Given the description of an element on the screen output the (x, y) to click on. 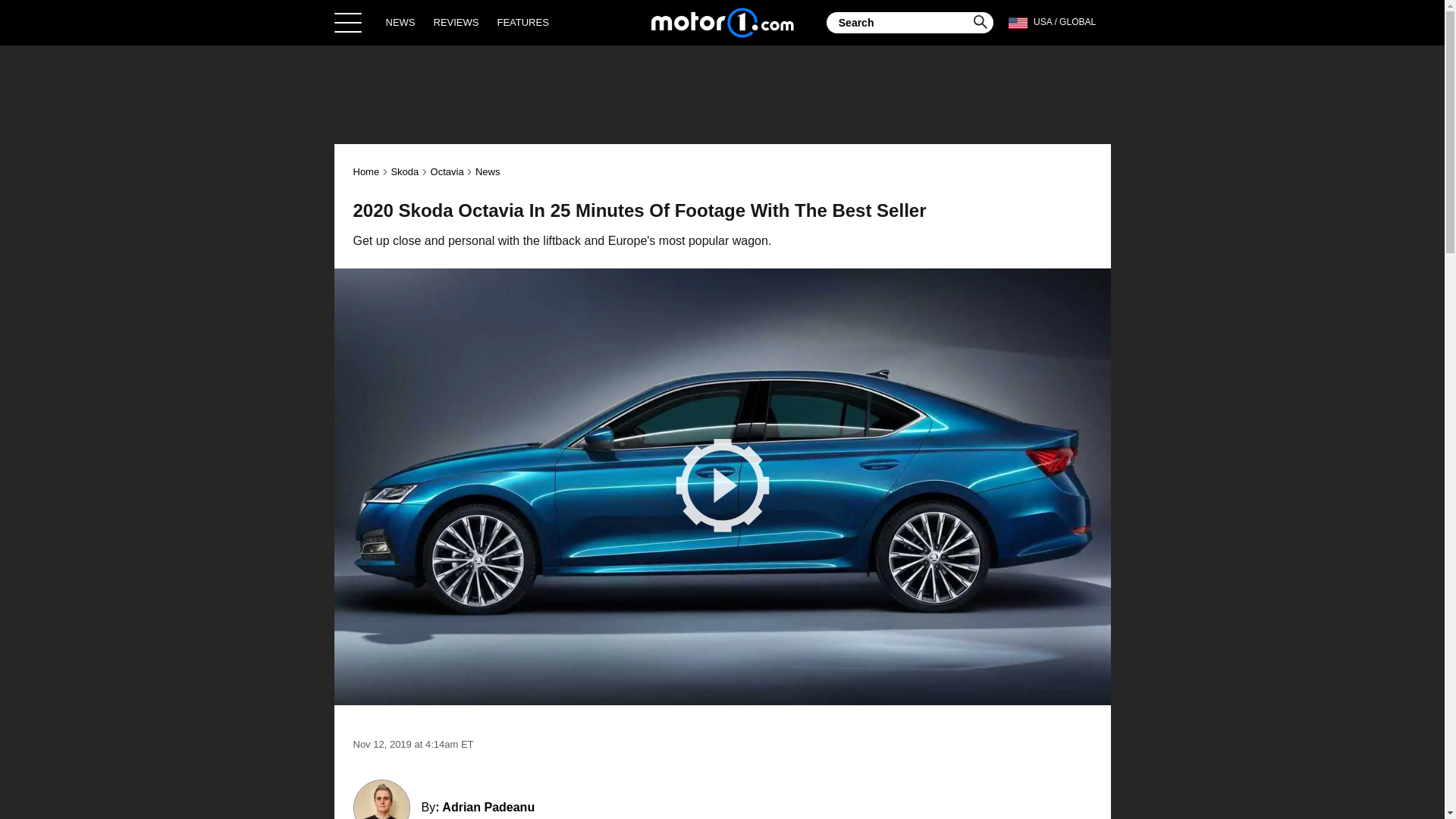
NEWS (399, 22)
Skoda (404, 171)
REVIEWS (456, 22)
Home (721, 22)
Home (366, 171)
Adrian Padeanu (488, 807)
Octavia (447, 171)
News (488, 171)
FEATURES (522, 22)
